Given the description of an element on the screen output the (x, y) to click on. 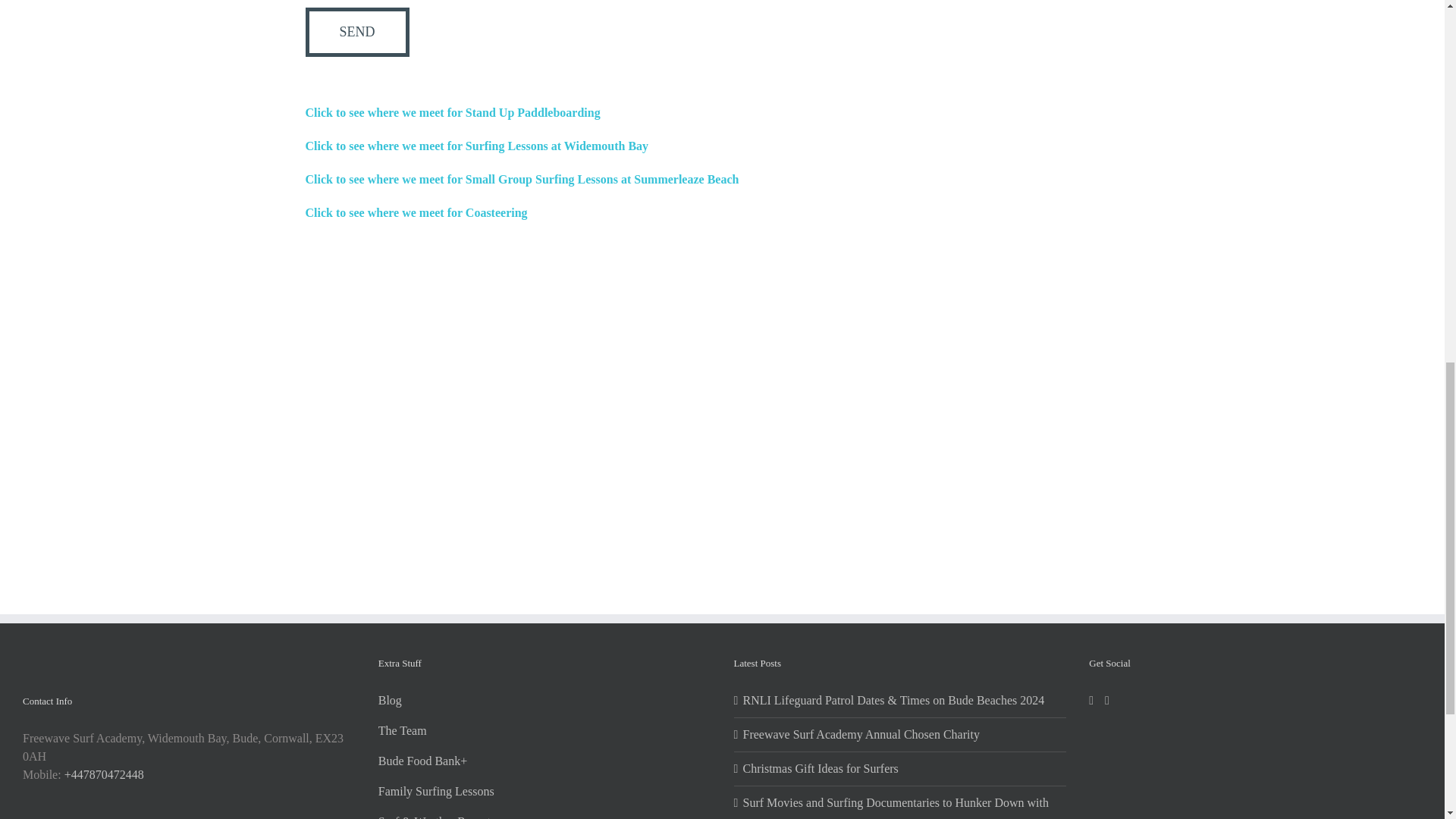
Send (356, 31)
